Given the description of an element on the screen output the (x, y) to click on. 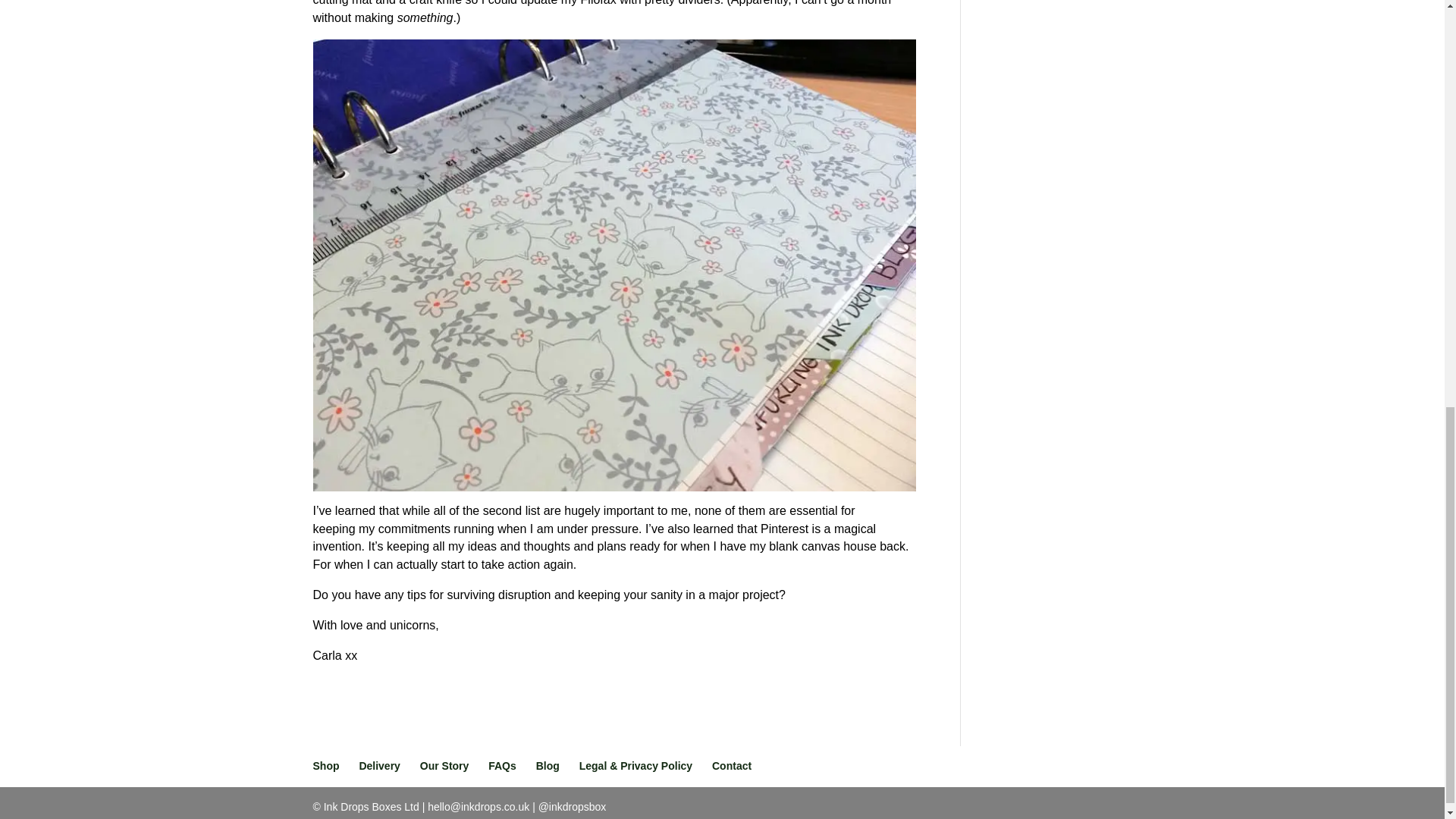
Our Story (444, 766)
Contact (731, 766)
Shop (326, 766)
FAQs (501, 766)
Blog (547, 766)
Delivery (378, 766)
